Given the description of an element on the screen output the (x, y) to click on. 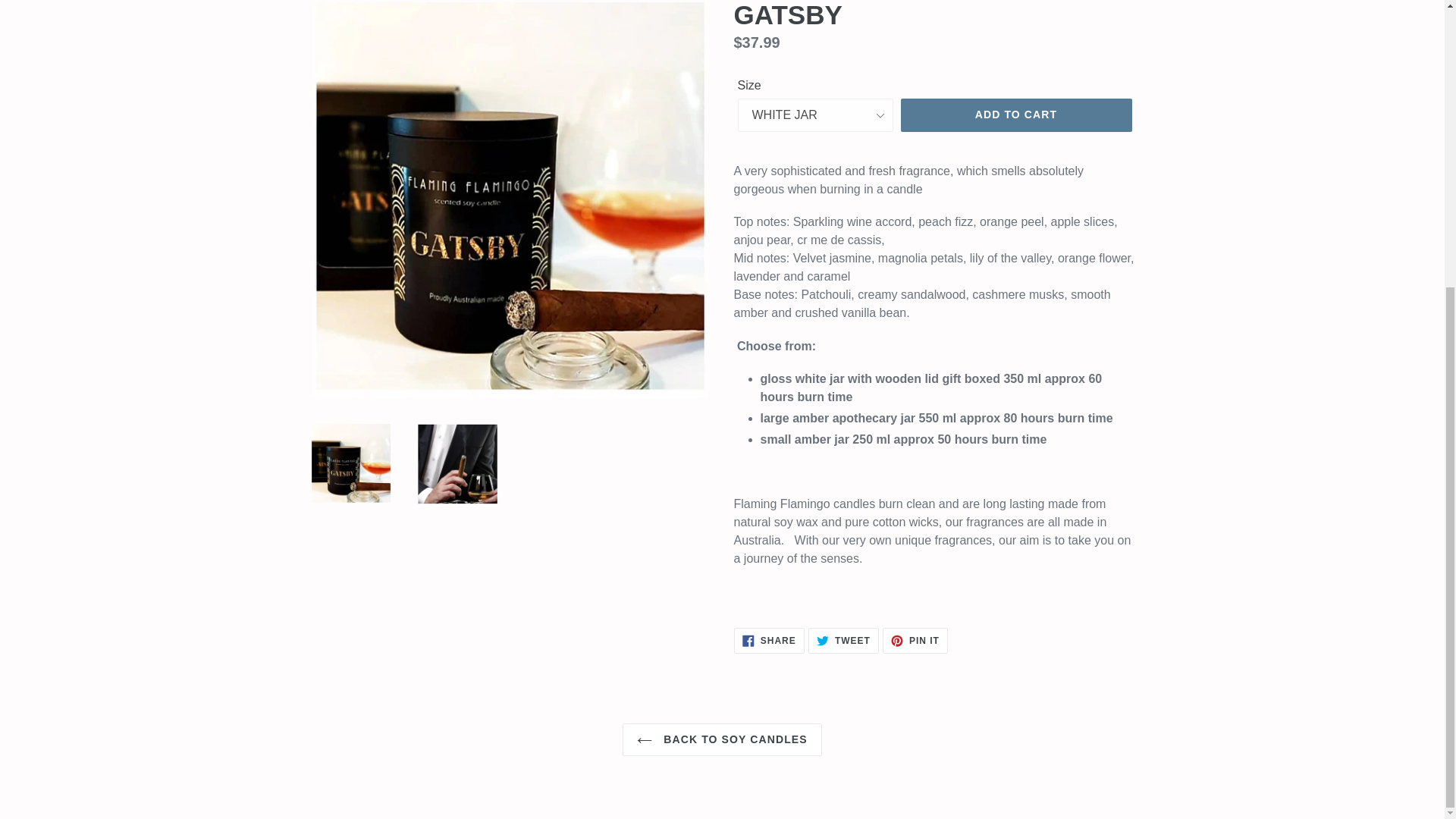
BACK TO SOY CANDLES (914, 640)
ADD TO CART (843, 640)
